Given the description of an element on the screen output the (x, y) to click on. 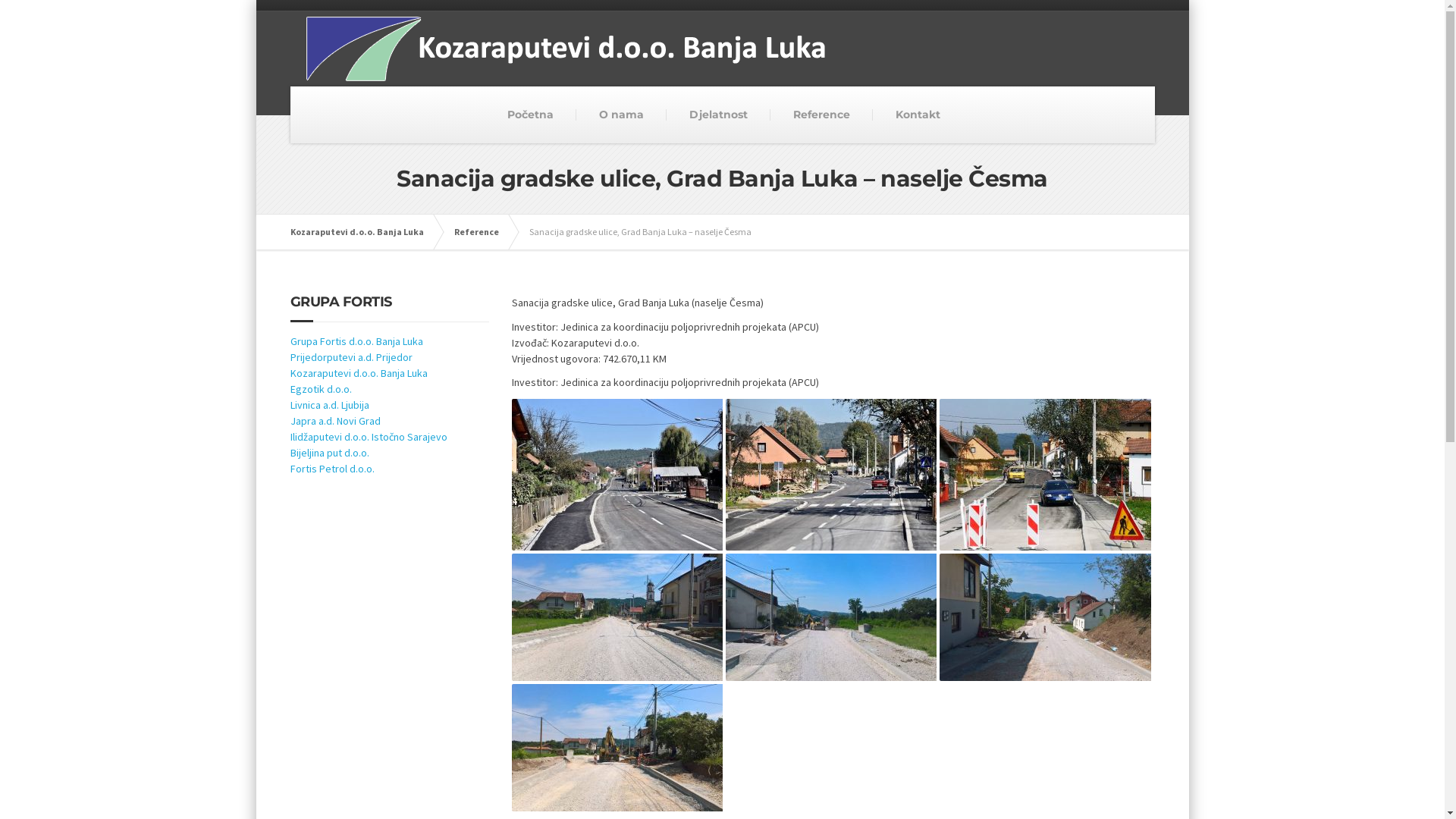
Kozaraputevi d.o.o. Banja Luka Element type: text (357, 372)
Bijeljina put d.o.o. Element type: text (328, 452)
Livnica a.d. Ljubija Element type: text (328, 404)
O nama Element type: text (621, 114)
Kozaraputevi d.o.o. Banja Luka Element type: text (363, 231)
Djelatnost Element type: text (718, 114)
Reference Element type: text (483, 231)
Fortis Petrol d.o.o. Element type: text (331, 468)
Kontakt Element type: text (917, 114)
Prijedorputevi a.d. Prijedor Element type: text (350, 357)
Japra a.d. Novi Grad Element type: text (334, 420)
Grupa Fortis d.o.o. Banja Luka Element type: text (355, 341)
Egzotik d.o.o. Element type: text (320, 388)
Reference Element type: text (821, 114)
